Given the description of an element on the screen output the (x, y) to click on. 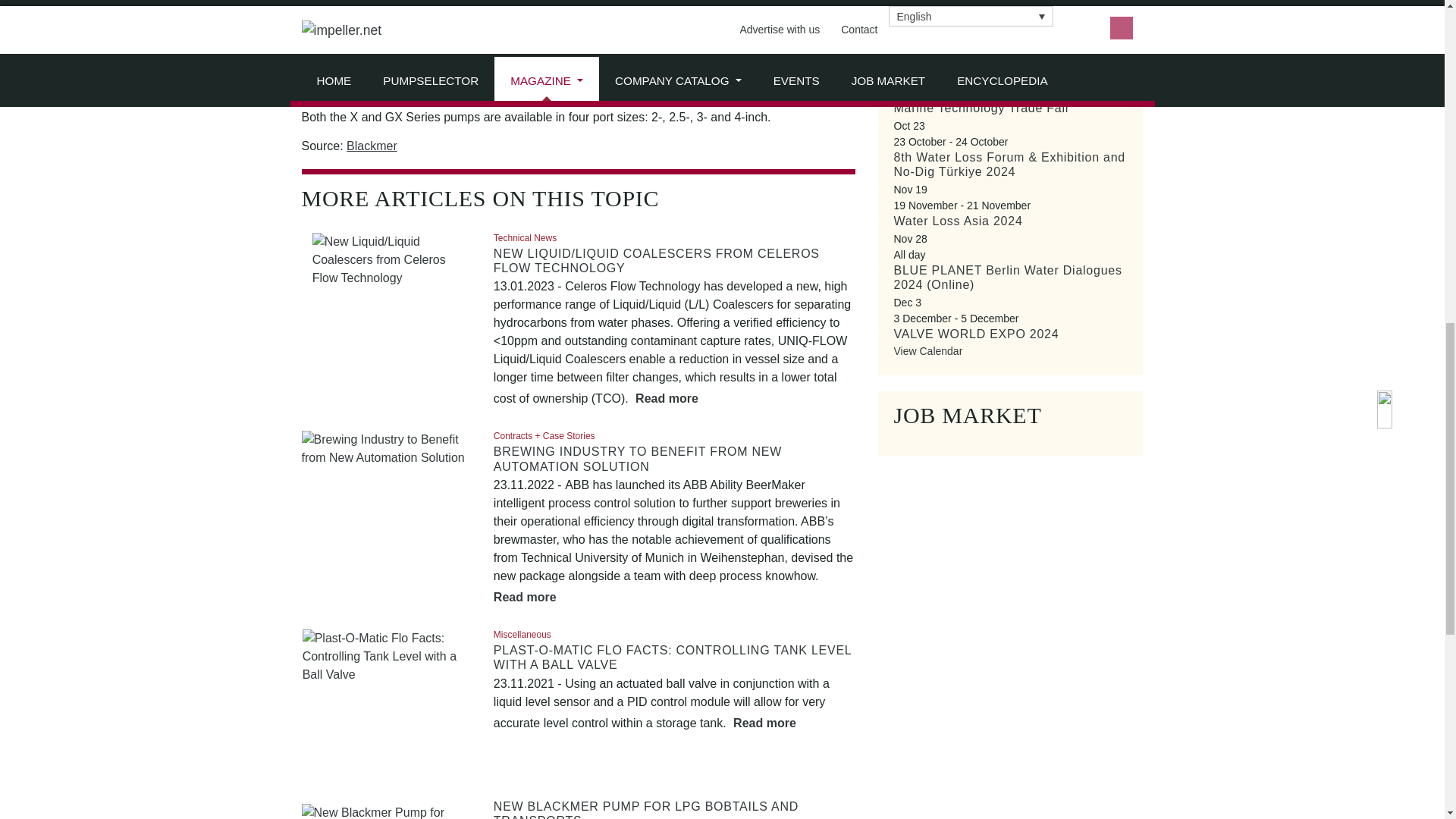
VALVE WORLD EXPO 2024 (975, 333)
Water Loss Asia 2024 (957, 220)
Read more (666, 398)
Blackmer (371, 145)
View more events. (927, 350)
Technical News (524, 236)
